Given the description of an element on the screen output the (x, y) to click on. 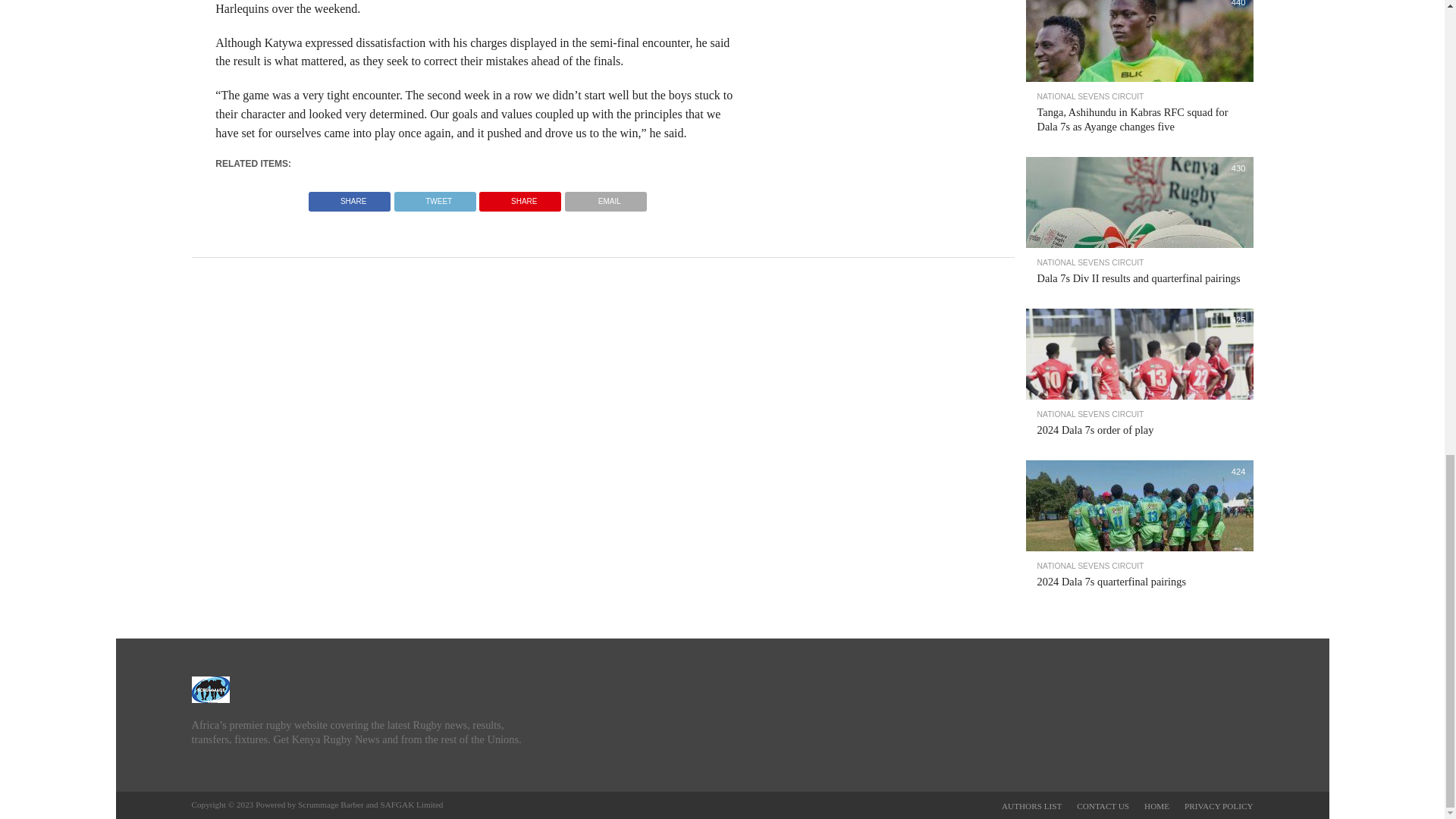
Tweet This Post (434, 196)
Share on Facebook (349, 196)
Pin This Post (520, 196)
